Given the description of an element on the screen output the (x, y) to click on. 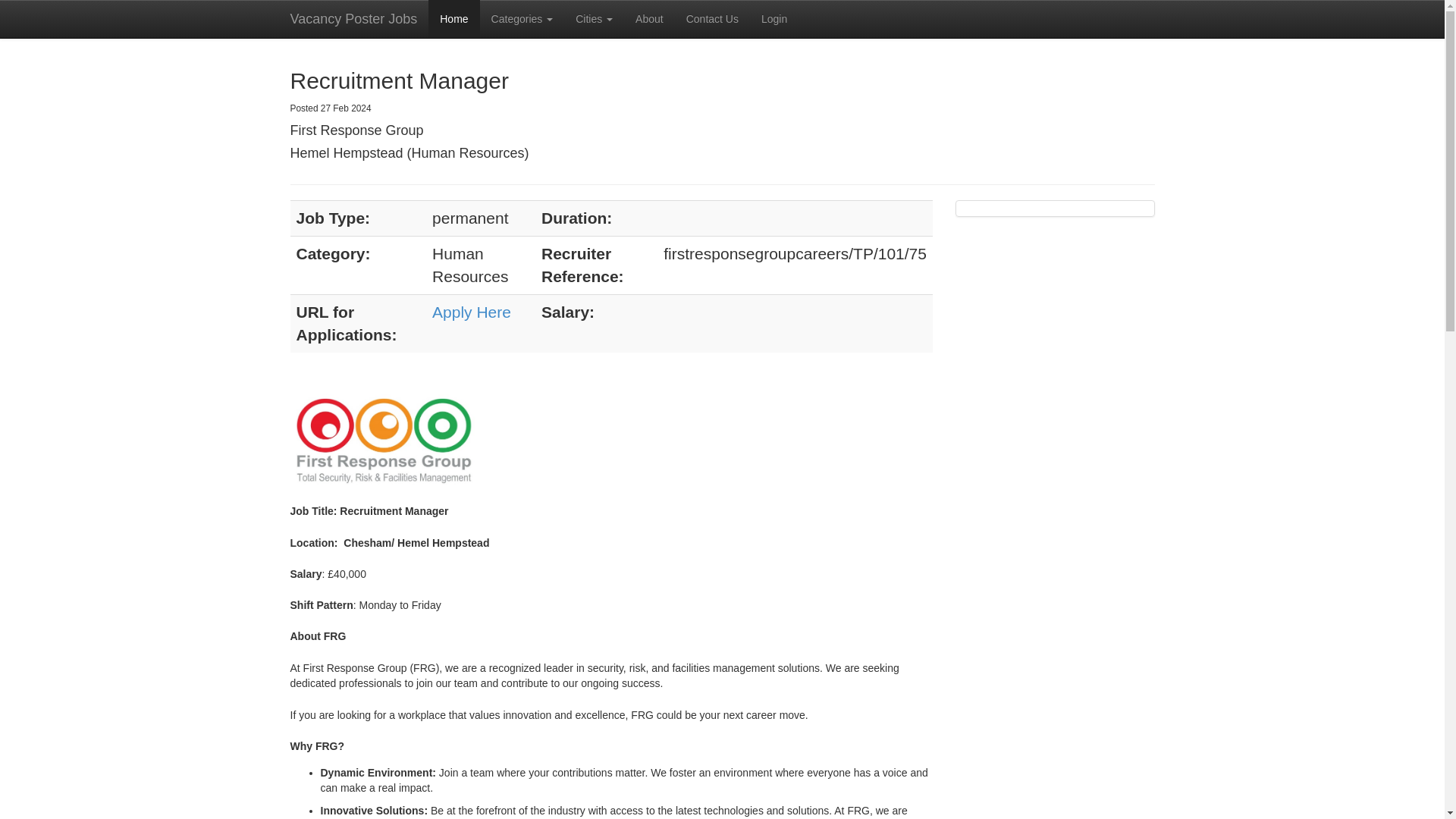
Contact Us (712, 18)
Vacancy Poster Jobs (354, 18)
Login (773, 18)
Home (453, 18)
Cities (594, 18)
About (649, 18)
Apply Here (471, 312)
Categories (522, 18)
